Given the description of an element on the screen output the (x, y) to click on. 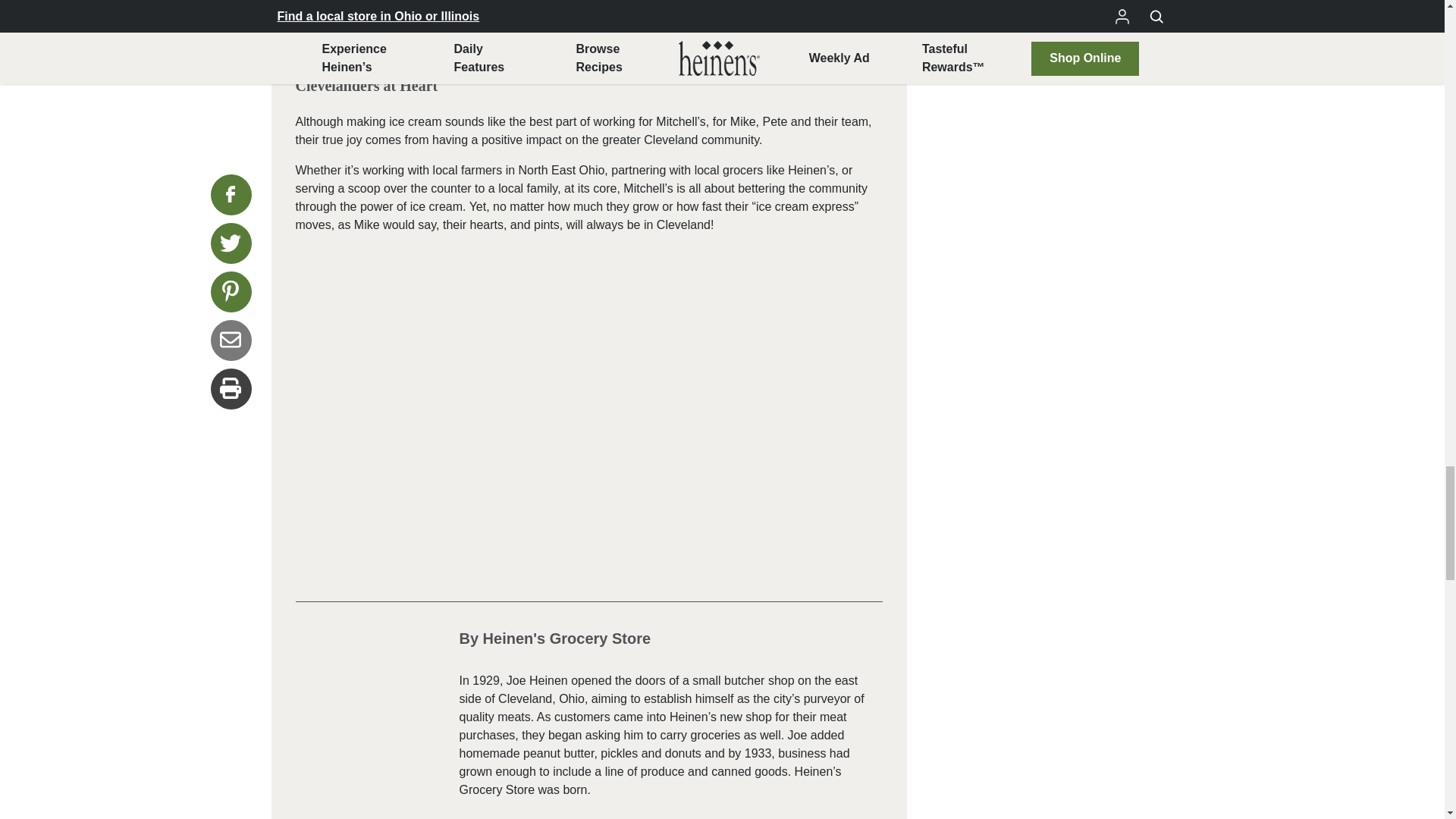
The Inside Scoop at Mitchell's Ice Cream: All About Flavor (588, 32)
